Given the description of an element on the screen output the (x, y) to click on. 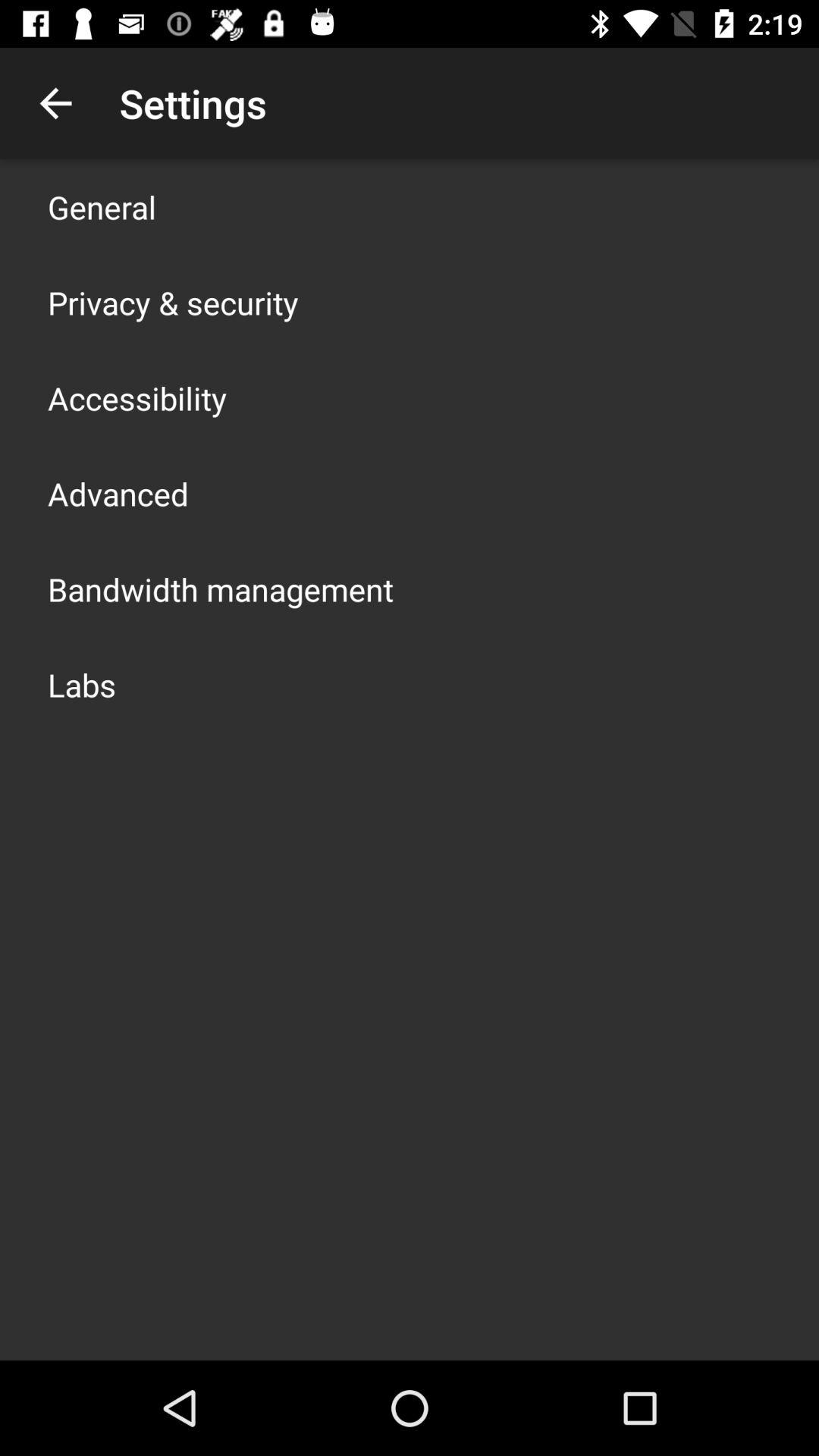
scroll until labs (81, 684)
